Given the description of an element on the screen output the (x, y) to click on. 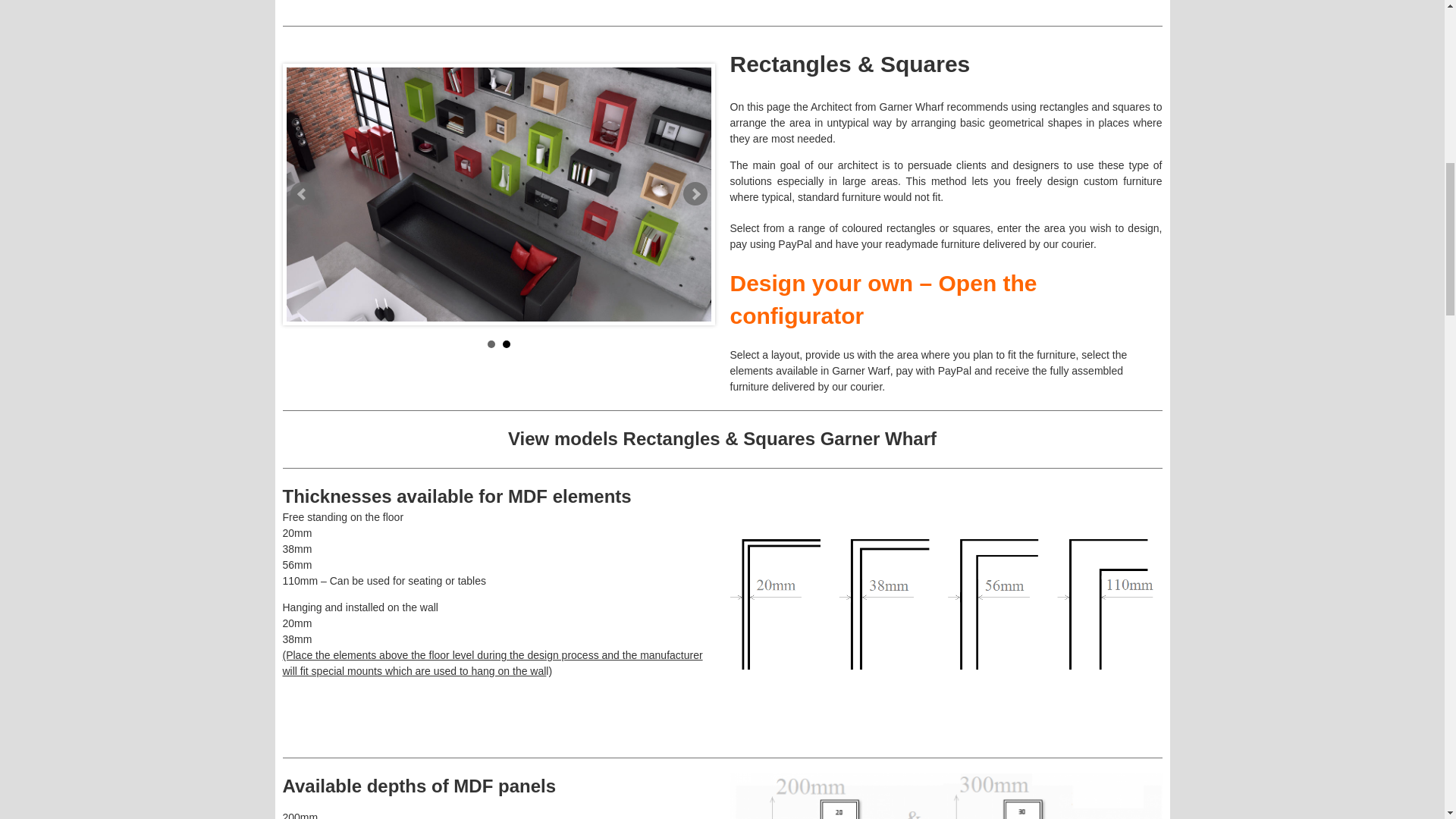
Next (694, 193)
2 (505, 344)
Prev (301, 193)
1 (490, 344)
